Given the description of an element on the screen output the (x, y) to click on. 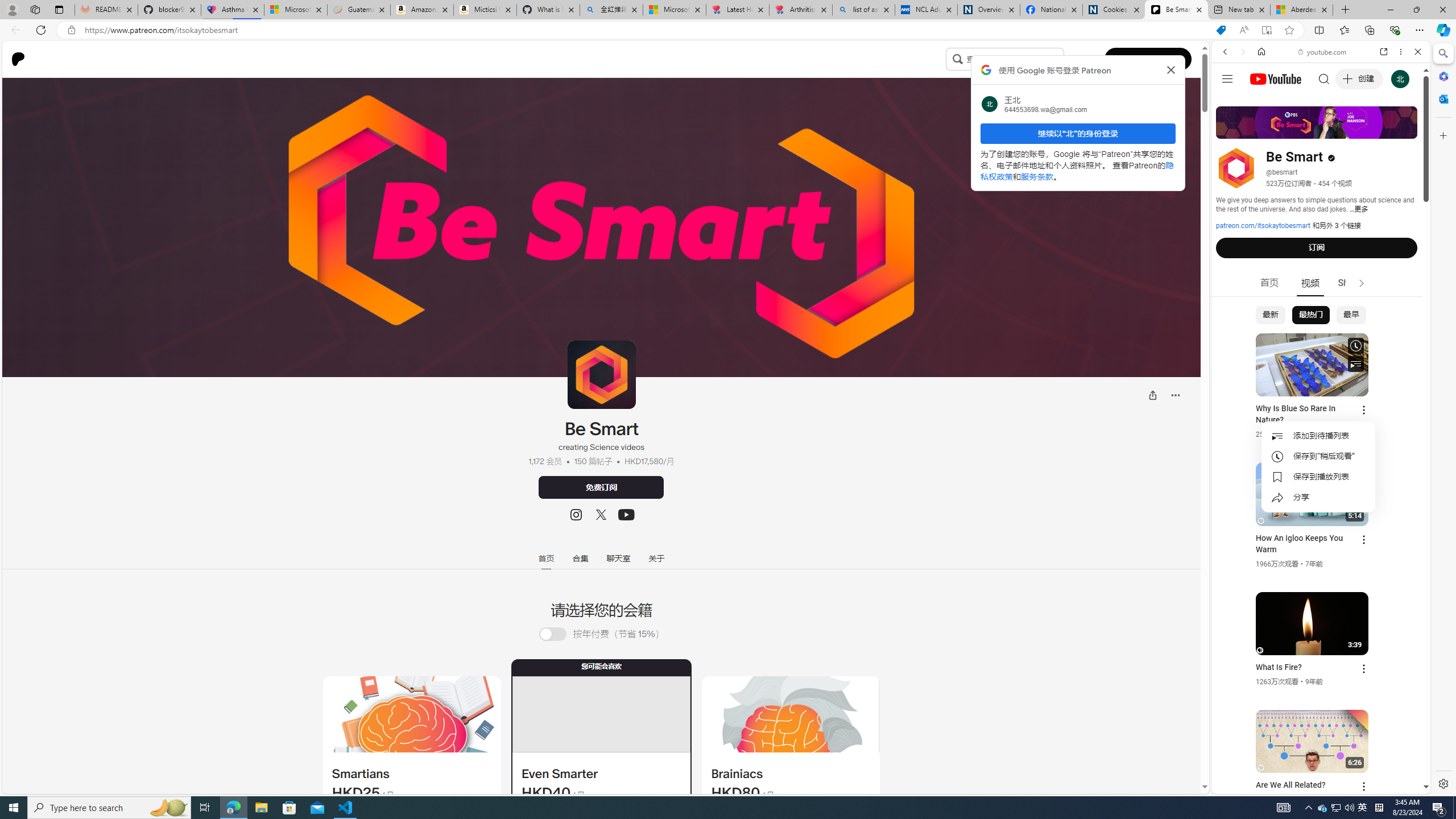
YouTube - YouTube (1315, 560)
Class: sc-jrQzAO HeRcC sc-1b5vbhn-1 hqVCmM (625, 514)
